Given the description of an element on the screen output the (x, y) to click on. 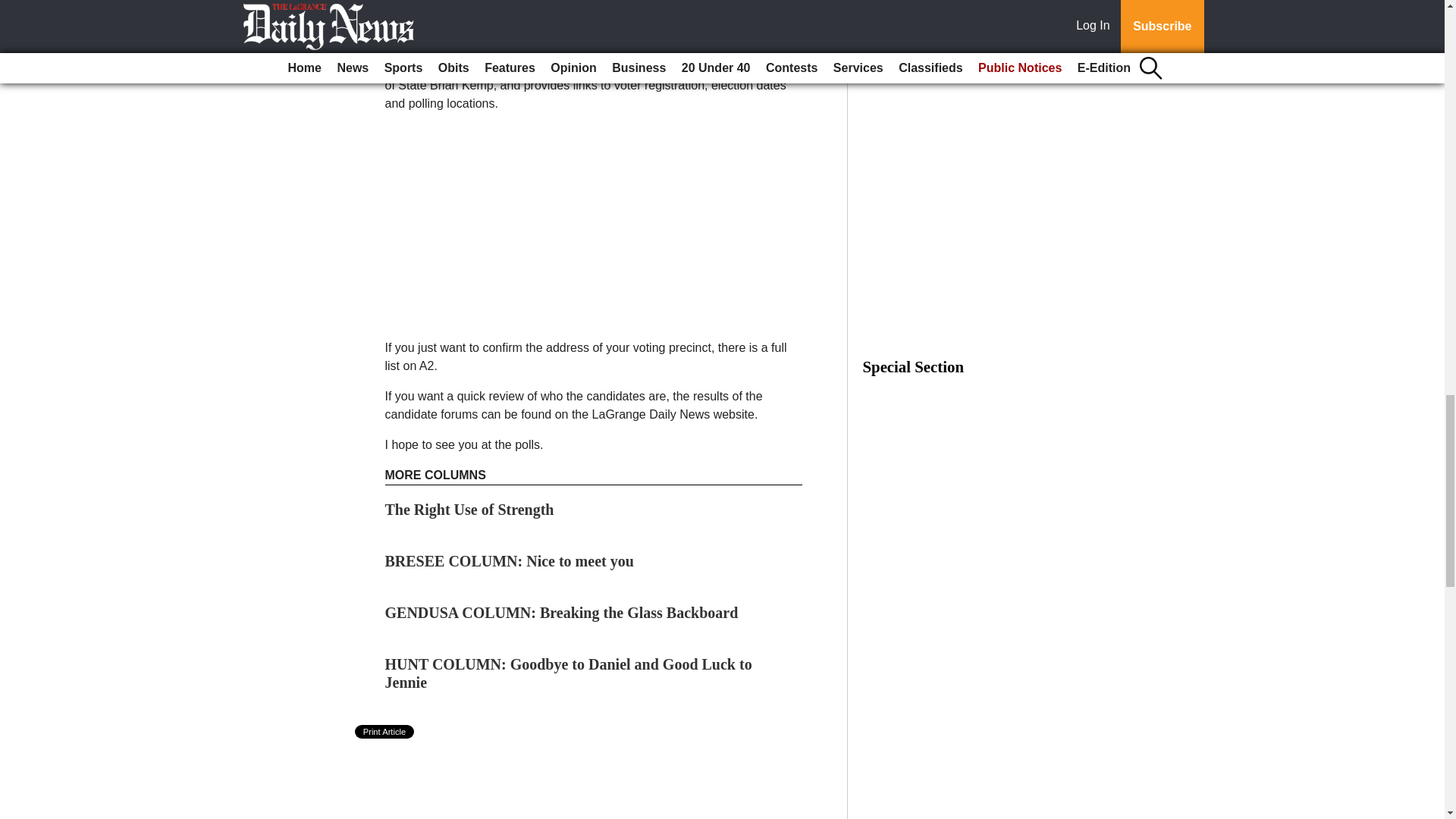
The Right Use of Strength (469, 509)
BRESEE COLUMN: Nice to meet you (509, 560)
GENDUSA COLUMN: Breaking the Glass Backboard (561, 612)
The Right Use of Strength (469, 509)
HUNT COLUMN: Goodbye to Daniel and Good Luck to Jennie (568, 673)
BRESEE COLUMN: Nice to meet you (509, 560)
GENDUSA COLUMN: Breaking the Glass Backboard (561, 612)
Print Article (384, 731)
HUNT COLUMN: Goodbye to Daniel and Good Luck to Jennie (568, 673)
